Given the description of an element on the screen output the (x, y) to click on. 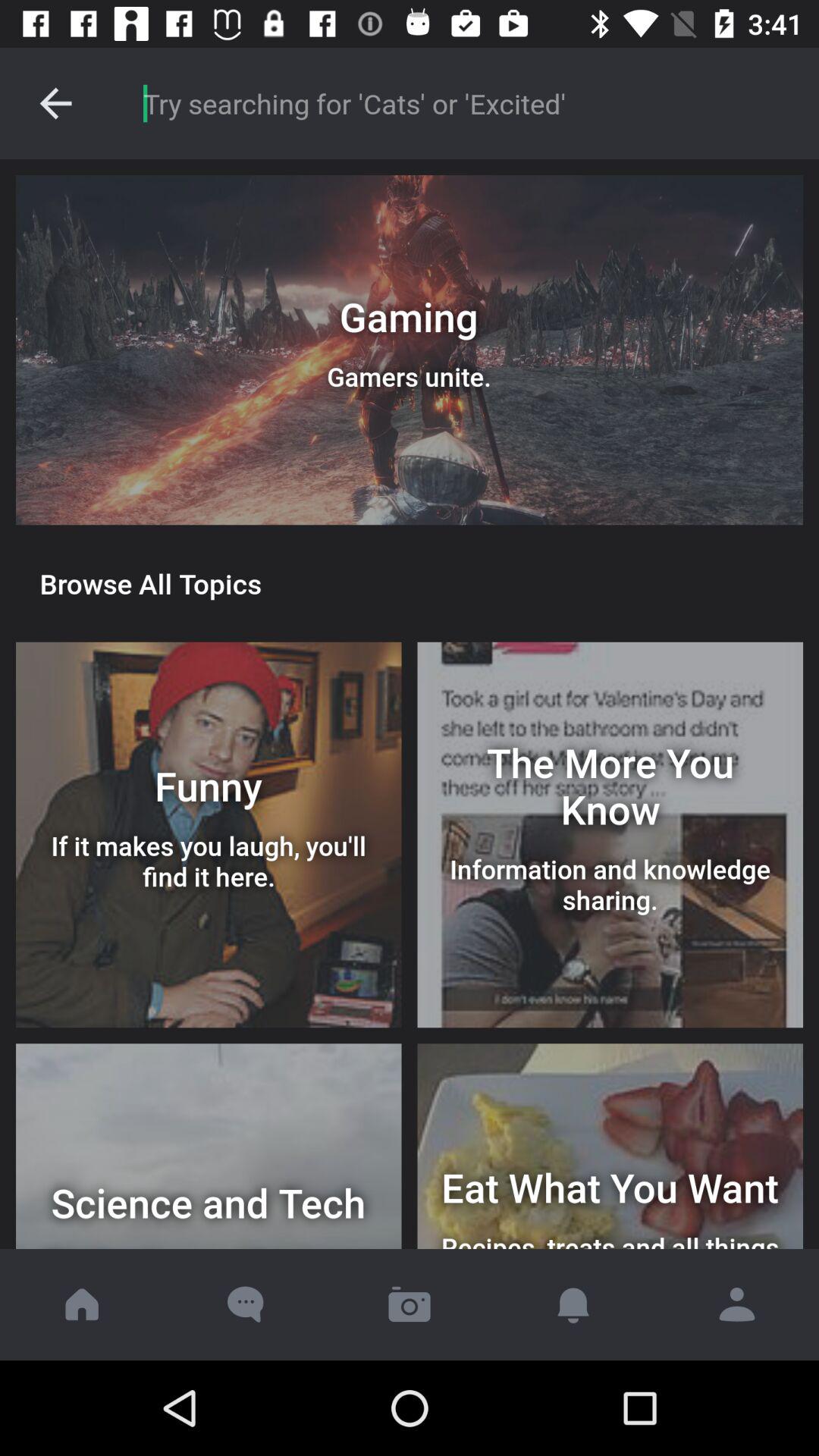
the button is used to start the camera (409, 1304)
